Given the description of an element on the screen output the (x, y) to click on. 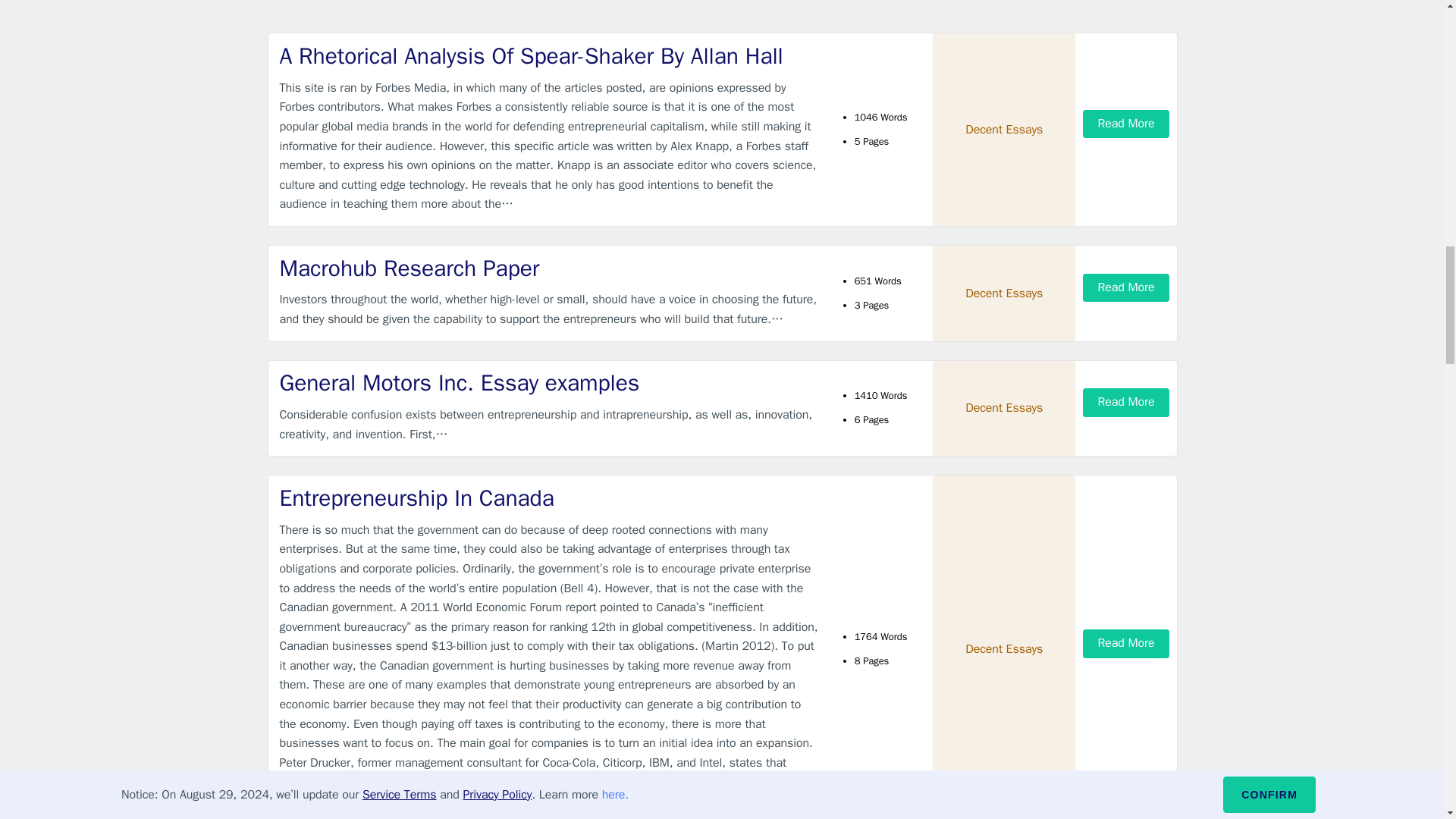
Read More (1126, 287)
Read More (1126, 643)
A Rhetorical Analysis Of Spear-Shaker By Allan Hall (548, 56)
Read More (1126, 123)
Entrepreneurship In Canada (548, 498)
General Motors Inc. Essay examples (548, 382)
Macrohub Research Paper (548, 268)
Read More (1126, 402)
